Given the description of an element on the screen output the (x, y) to click on. 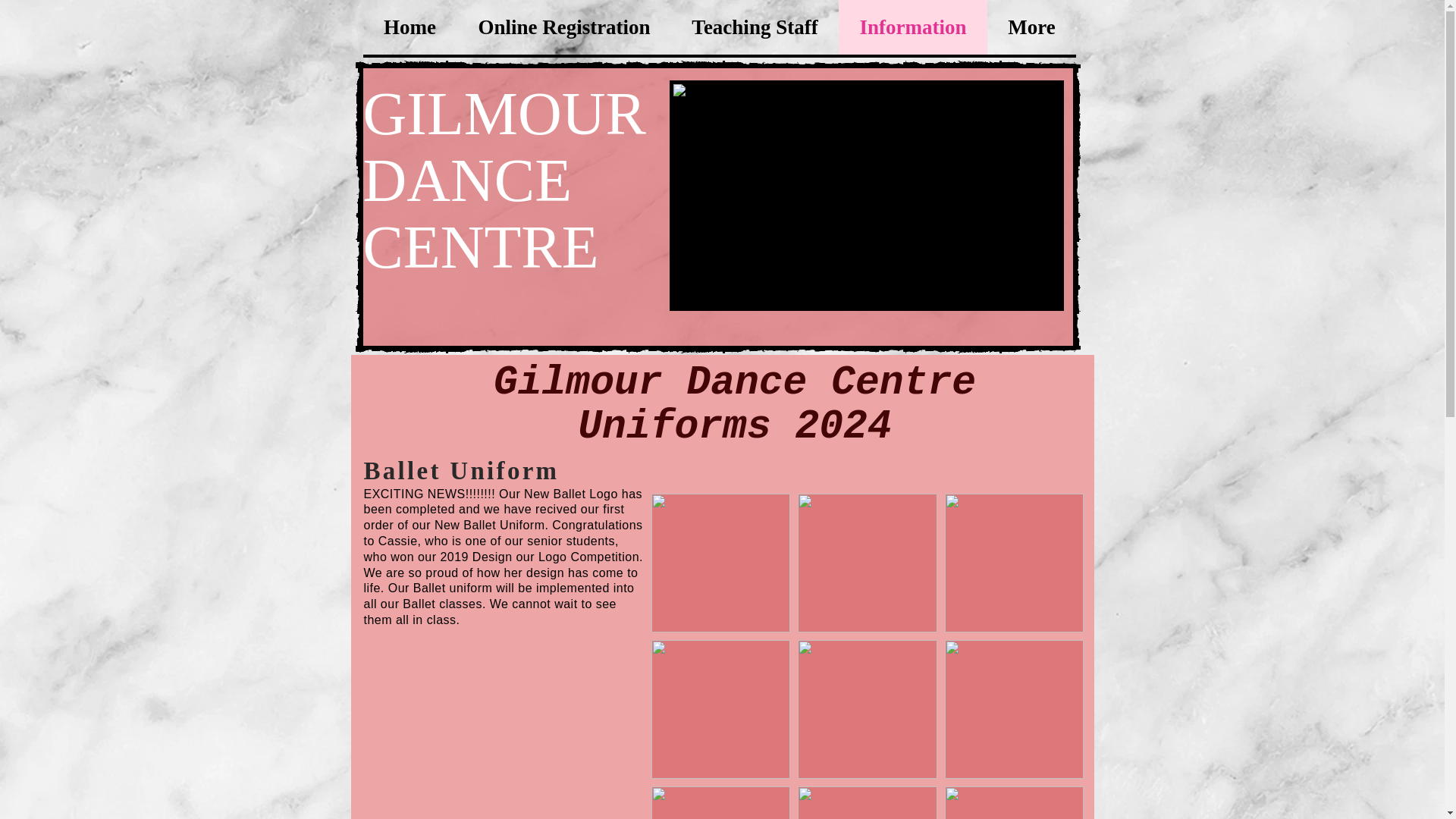
Online Registration (563, 27)
Teaching Staff (753, 27)
Home (409, 27)
Information (912, 27)
